Given the description of an element on the screen output the (x, y) to click on. 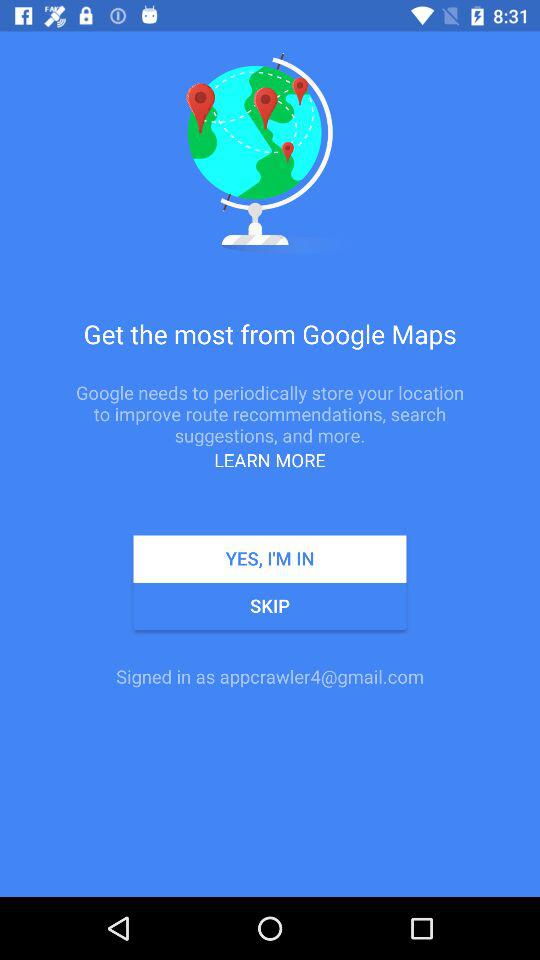
swipe to the learn more (269, 459)
